Given the description of an element on the screen output the (x, y) to click on. 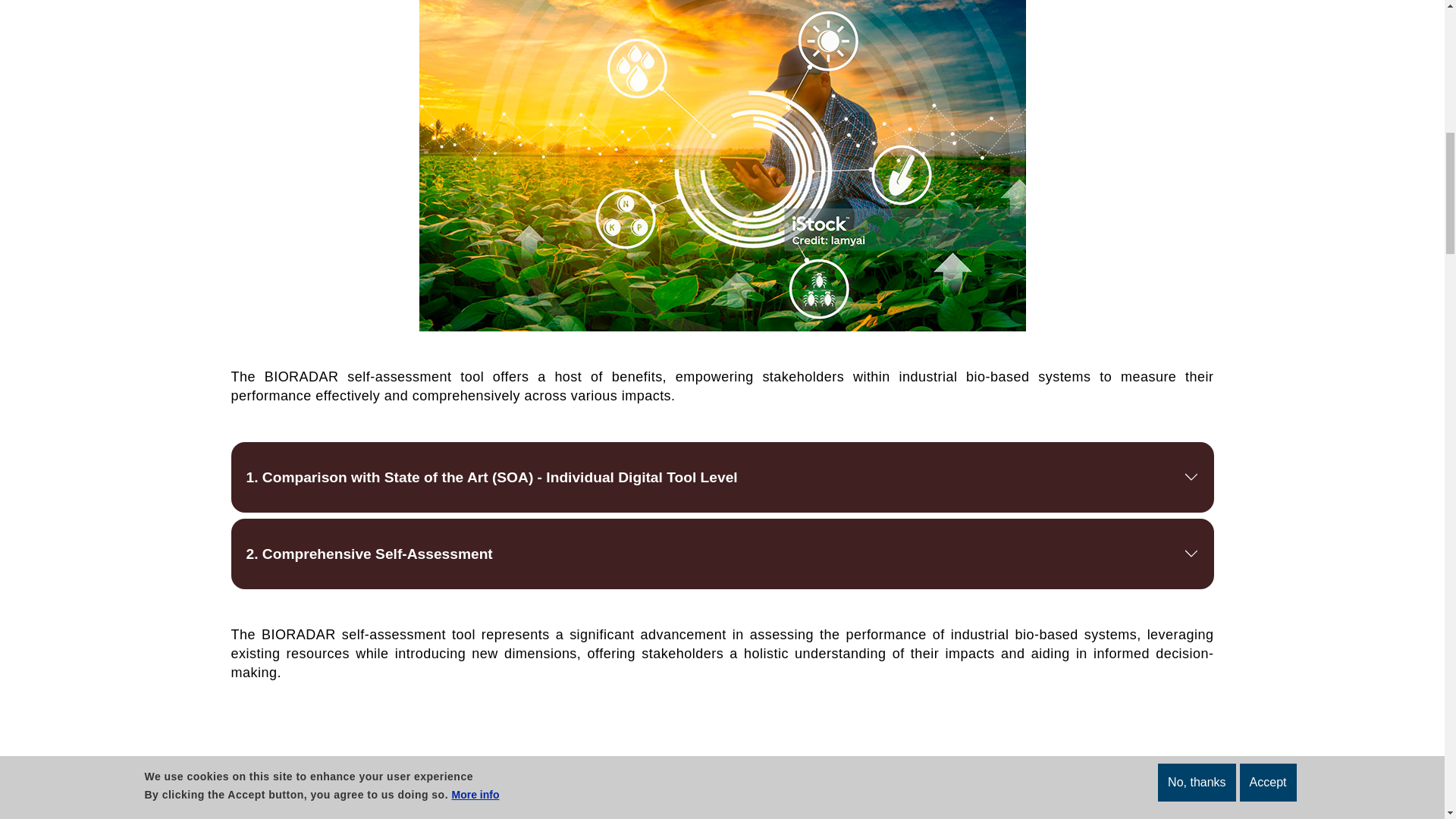
2. Comprehensive Self-Assessment (721, 553)
